Given the description of an element on the screen output the (x, y) to click on. 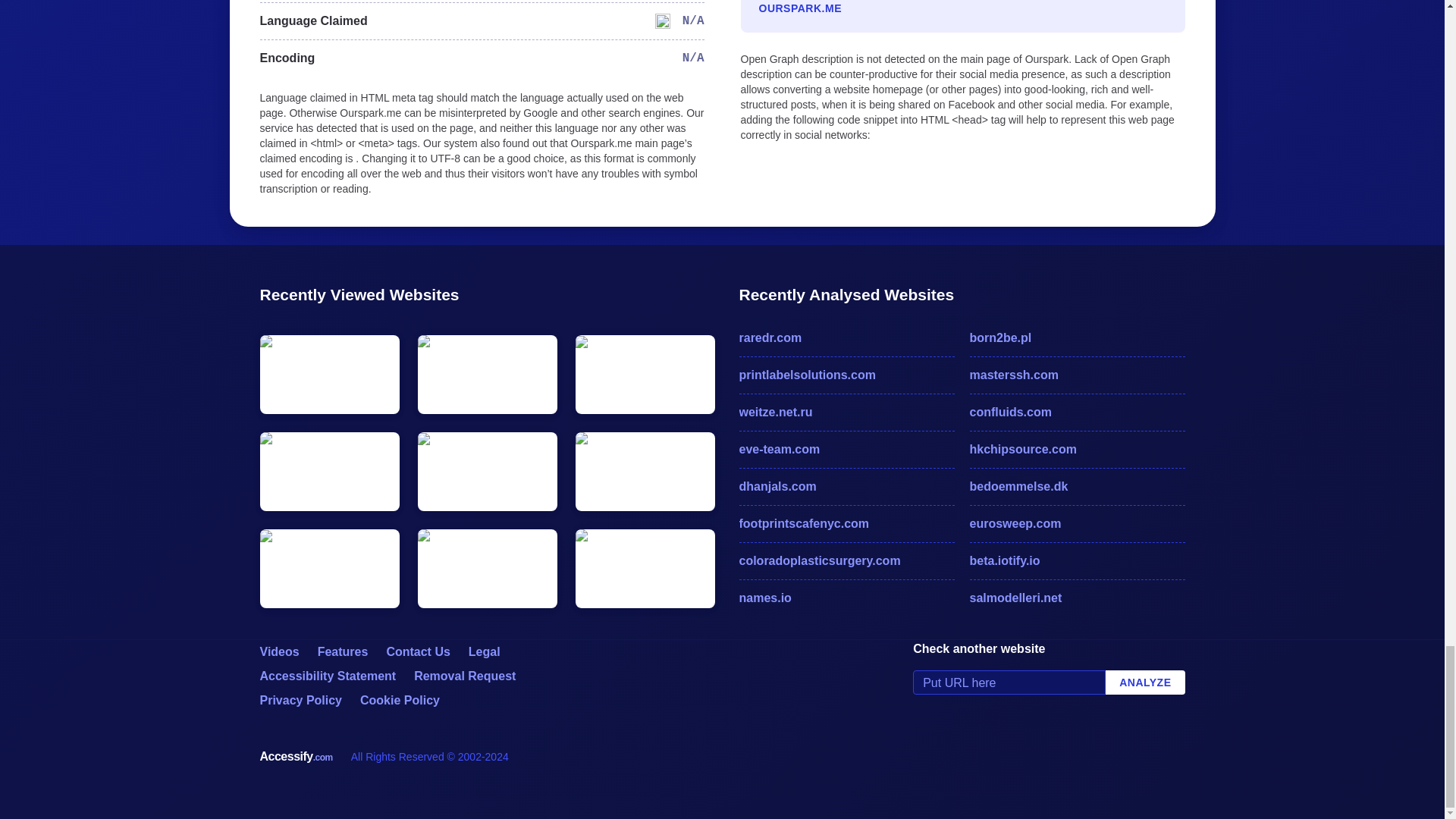
Screencasts: video tutorials and guides (278, 651)
salmodelleri.net (1077, 597)
weitze.net.ru (845, 412)
eurosweep.com (1077, 524)
eve-team.com (845, 449)
dhanjals.com (845, 486)
beta.iotify.io (1077, 561)
born2be.pl (1077, 338)
bedoemmelse.dk (1077, 486)
names.io (845, 597)
